Given the description of an element on the screen output the (x, y) to click on. 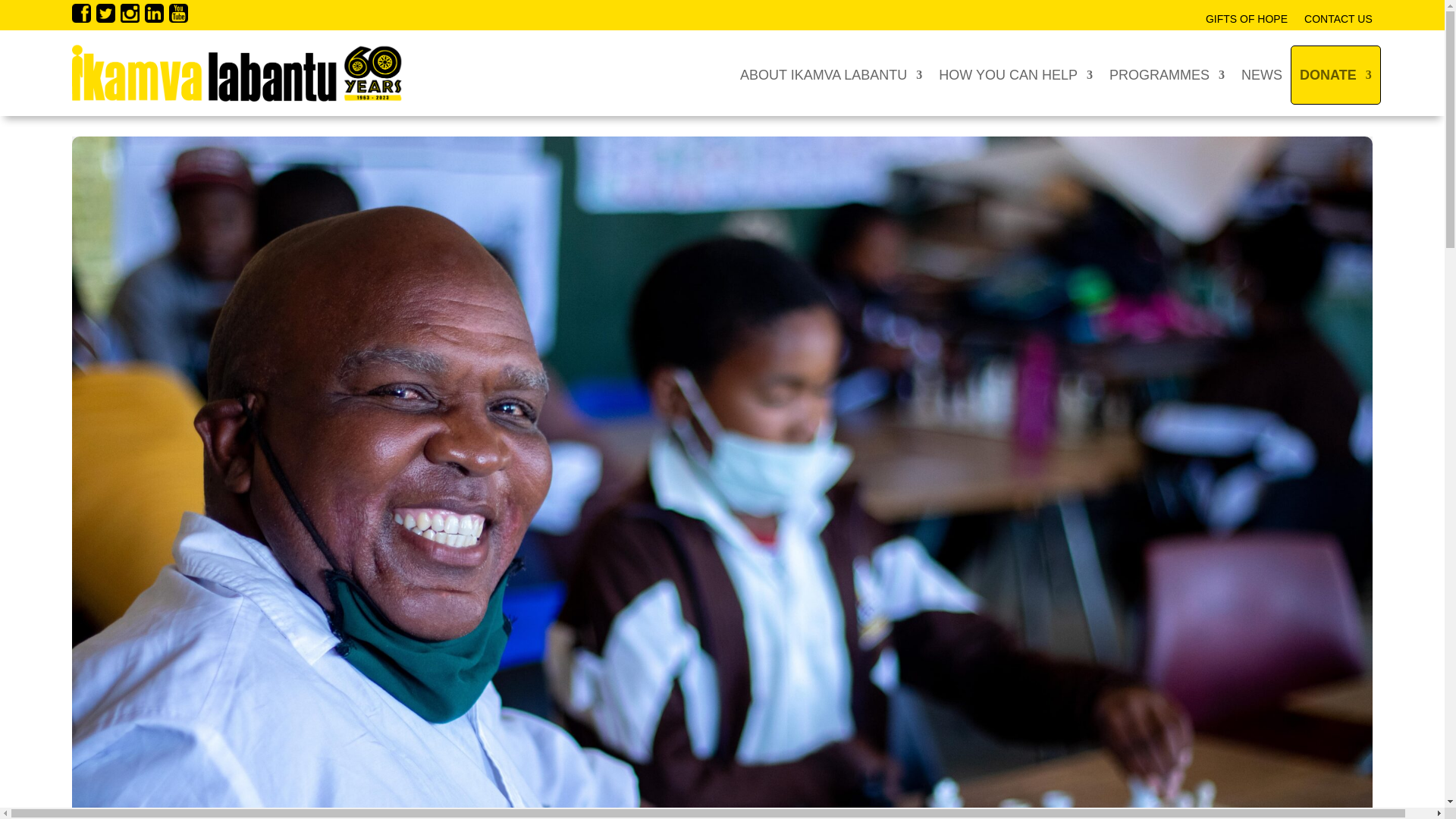
DONATE (1335, 74)
CONTACT US (1338, 21)
GIFTS OF HOPE (1246, 21)
HOW YOU CAN HELP (1016, 74)
PROGRAMMES (1166, 74)
ABOUT IKAMVA LABANTU (830, 74)
